Given the description of an element on the screen output the (x, y) to click on. 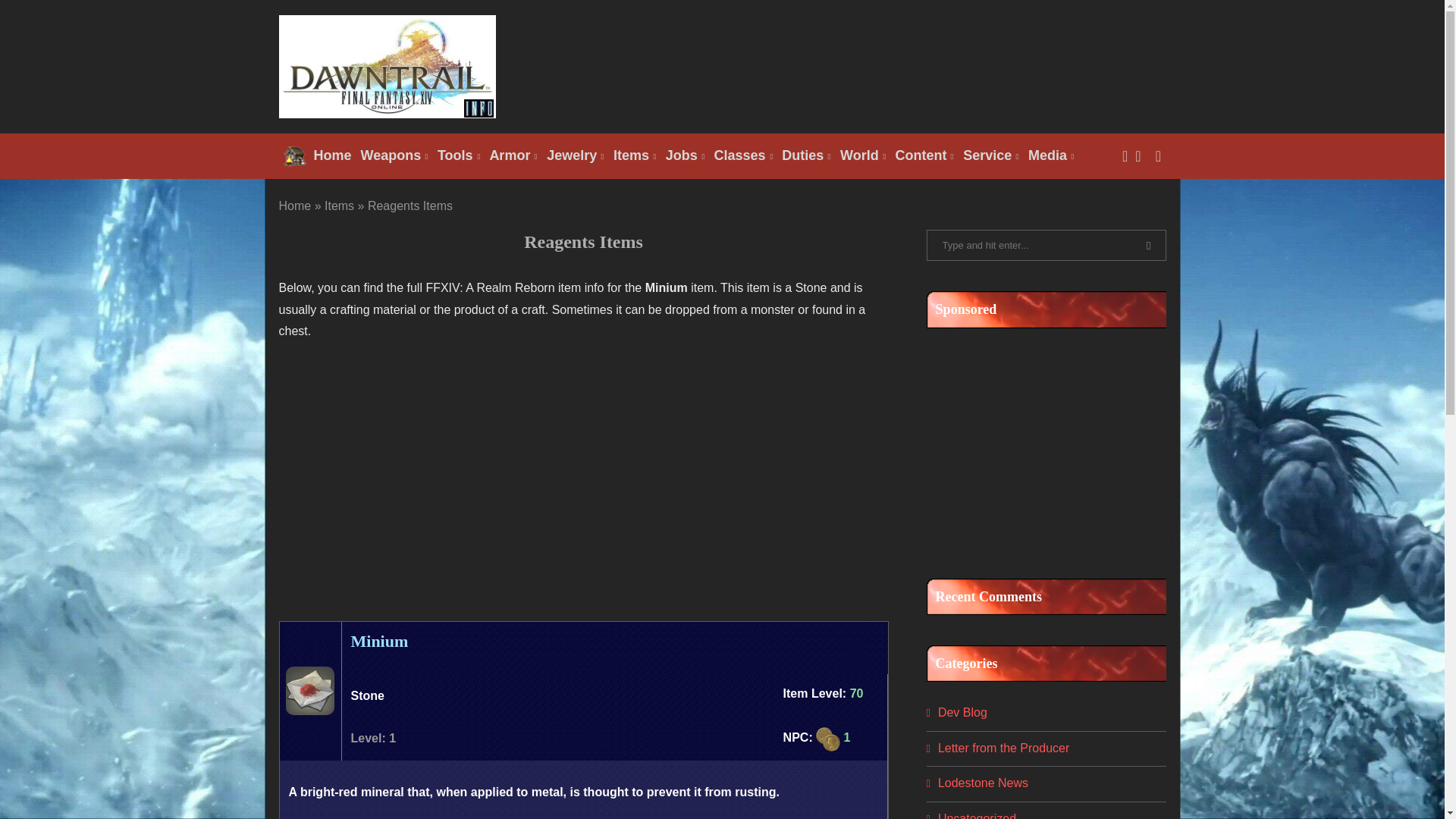
Weapons (394, 156)
Tools (458, 156)
Advertisement (890, 65)
Advertisement (1040, 445)
Advertisement (583, 470)
Home (317, 156)
